Given the description of an element on the screen output the (x, y) to click on. 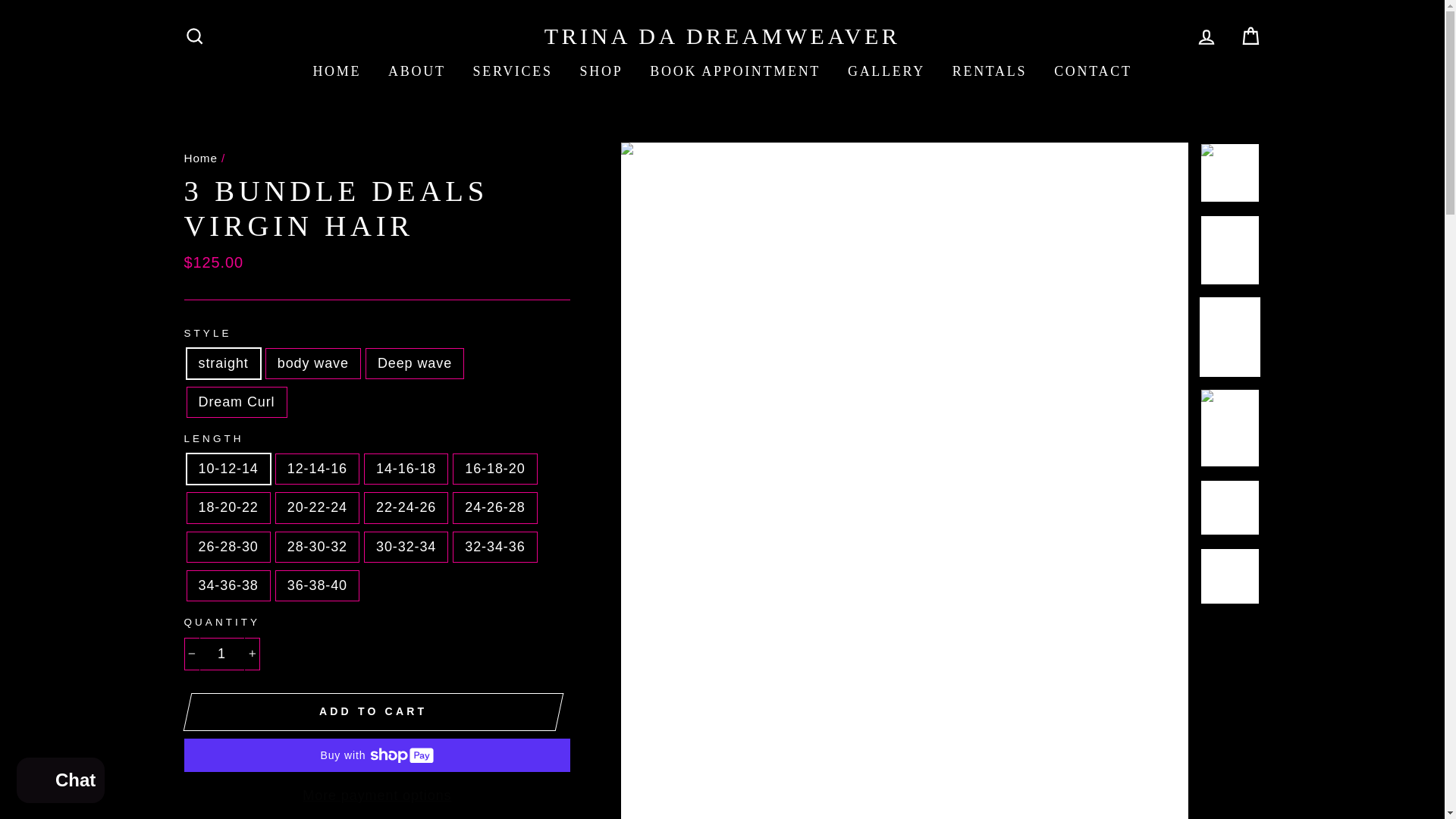
ABOUT (417, 71)
1 (221, 654)
More payment options (376, 795)
LOG IN (1205, 35)
Home (199, 157)
SERVICES (512, 71)
